Given the description of an element on the screen output the (x, y) to click on. 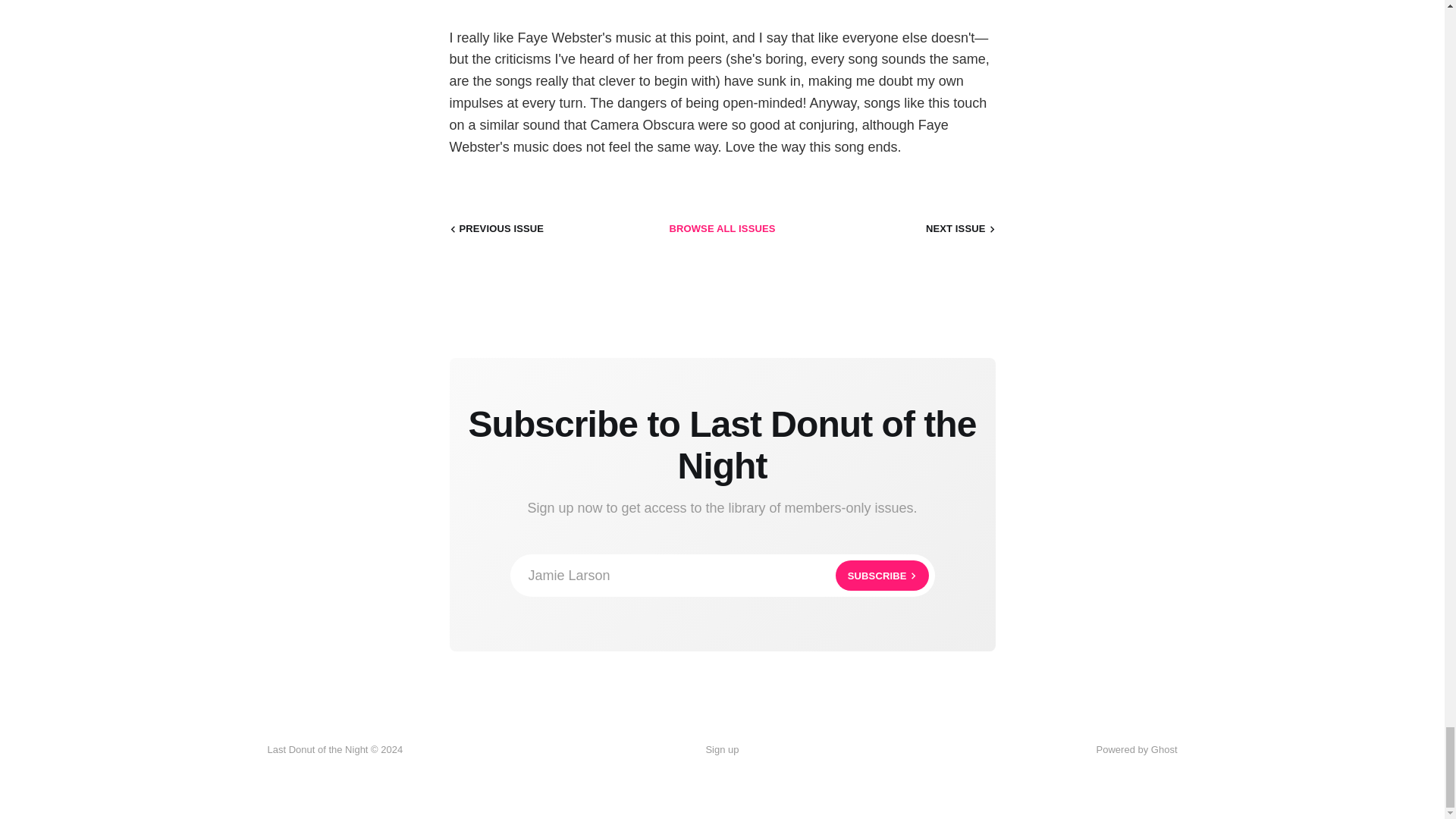
BROWSE ALL ISSUES (721, 228)
Powered by Ghost (721, 575)
Sign up (1136, 749)
